Given the description of an element on the screen output the (x, y) to click on. 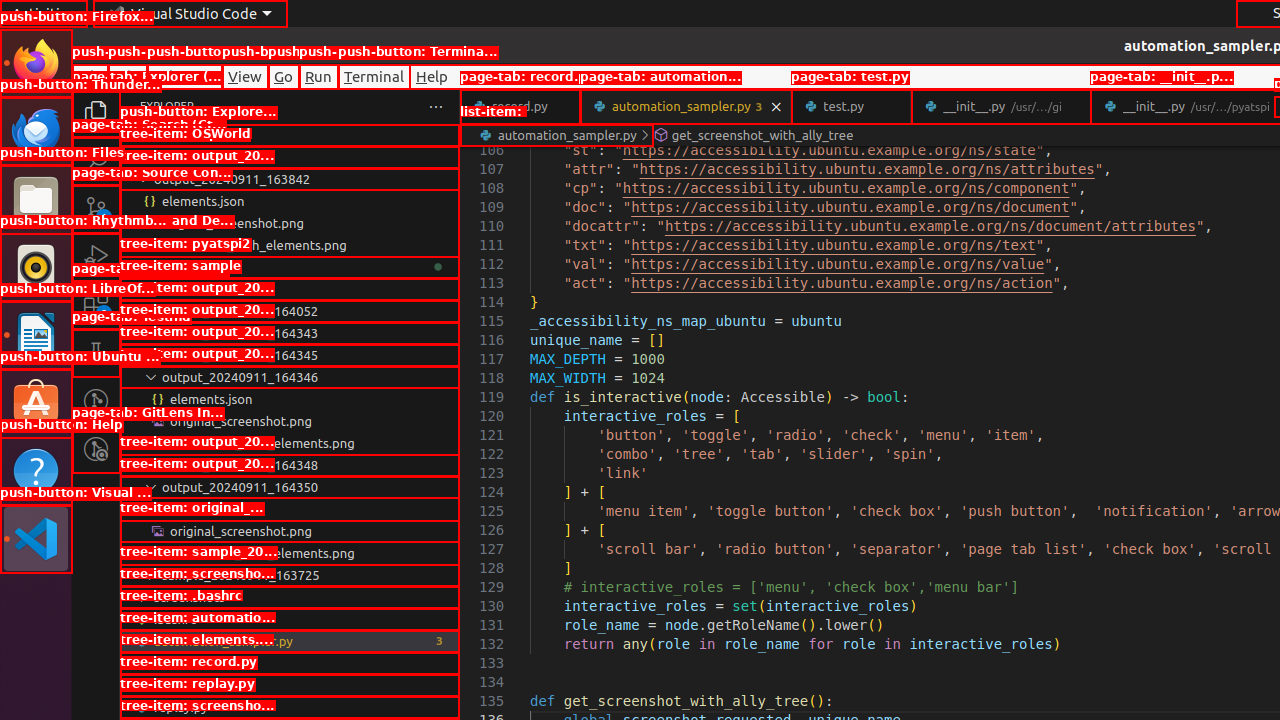
File Element type: push-button (90, 76)
automation_sampler.py Element type: page-tab (686, 106)
original_screenshot.png Element type: tree-item (289, 531)
